Given the description of an element on the screen output the (x, y) to click on. 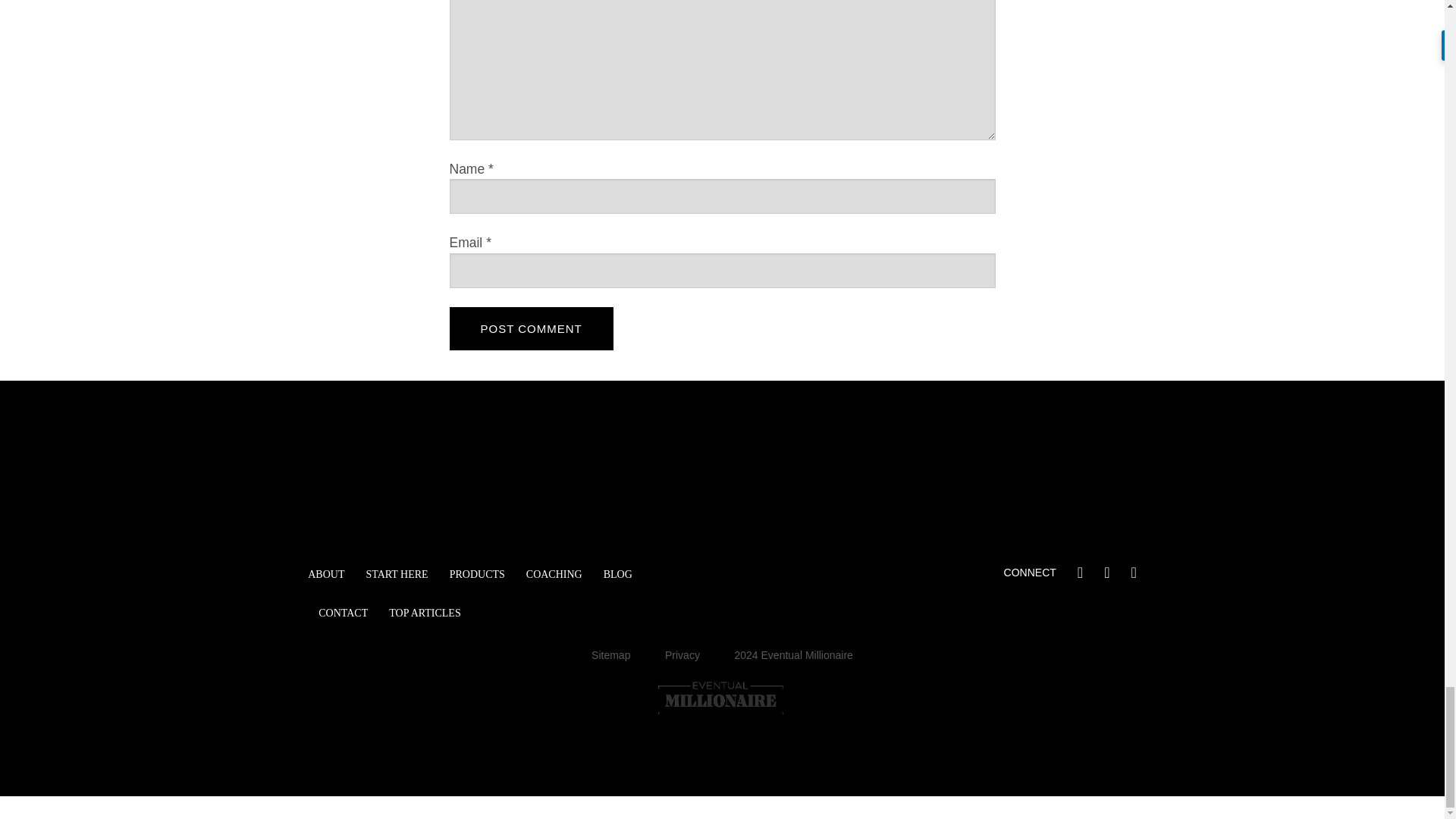
Post Comment (530, 328)
